Given the description of an element on the screen output the (x, y) to click on. 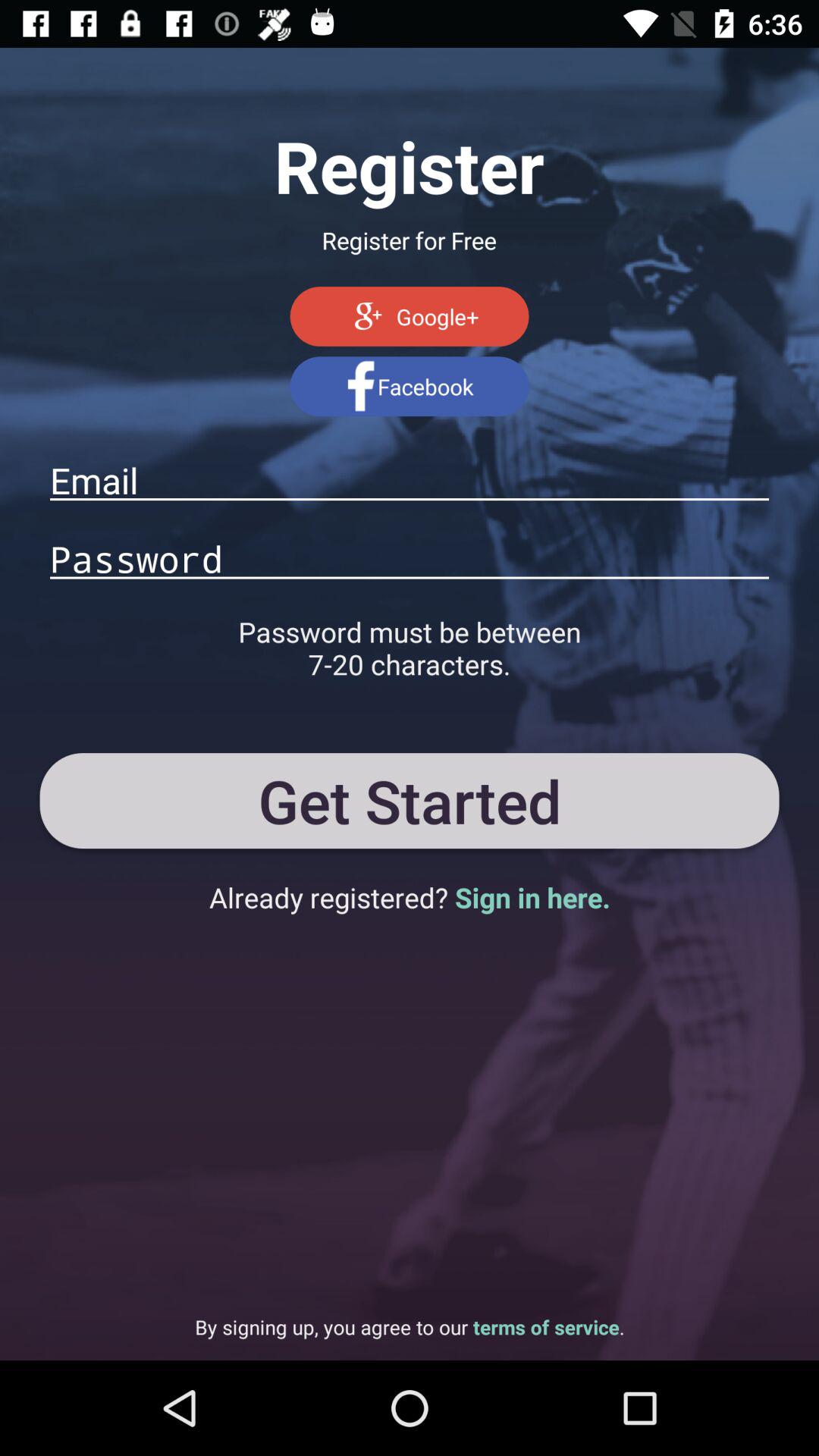
enter password (409, 558)
